Given the description of an element on the screen output the (x, y) to click on. 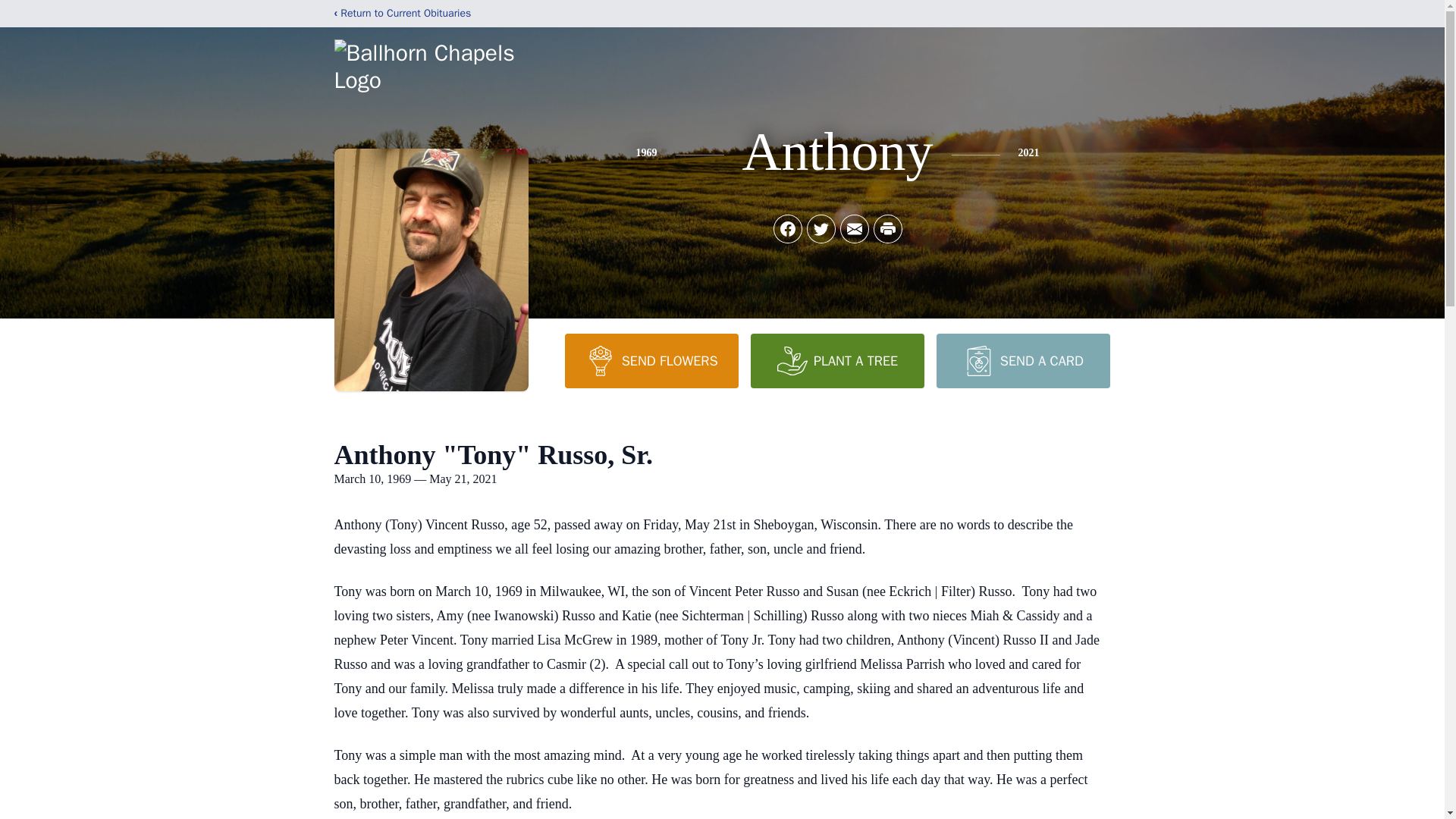
PLANT A TREE (837, 360)
SEND A CARD (1022, 360)
SEND FLOWERS (651, 360)
